Given the description of an element on the screen output the (x, y) to click on. 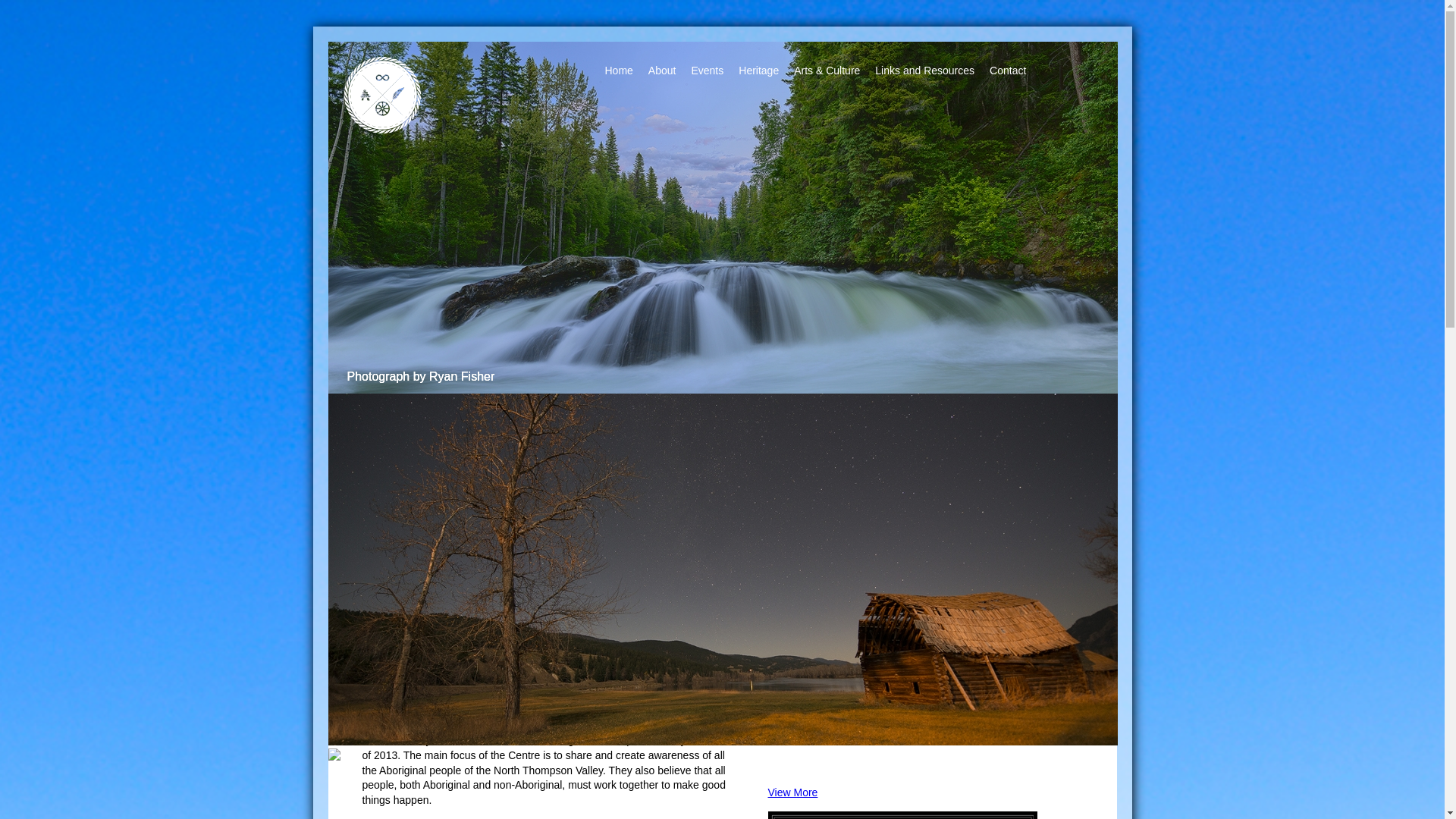
View More Element type: text (792, 792)
Inuit Element type: text (773, 436)
Metis Element type: text (639, 482)
Links and Resources Element type: text (924, 70)
Arts & Culture Element type: text (826, 70)
First Nations Element type: text (480, 436)
Events Element type: text (707, 70)
Home Element type: text (618, 70)
Heritage Element type: text (758, 70)
Contact Element type: text (1007, 70)
Pioneers Element type: text (906, 482)
About Element type: text (662, 70)
Upcoming Events Element type: text (834, 599)
